Given the description of an element on the screen output the (x, y) to click on. 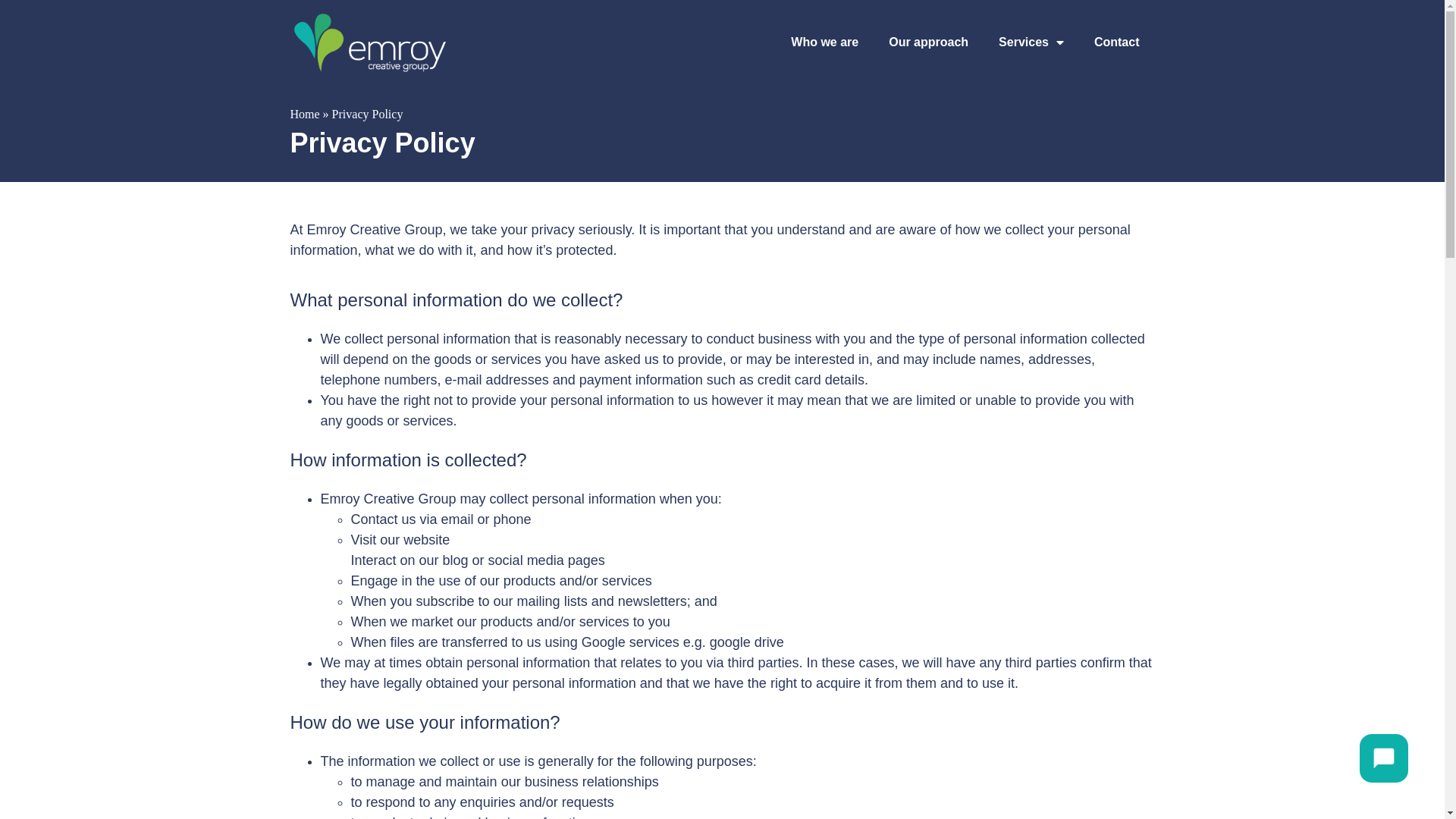
Contact Element type: text (1116, 42)
Chatbot Element type: hover (1383, 757)
Our approach Element type: text (928, 42)
Home Element type: text (304, 113)
Services Element type: text (1031, 42)
Who we are Element type: text (824, 42)
